Given the description of an element on the screen output the (x, y) to click on. 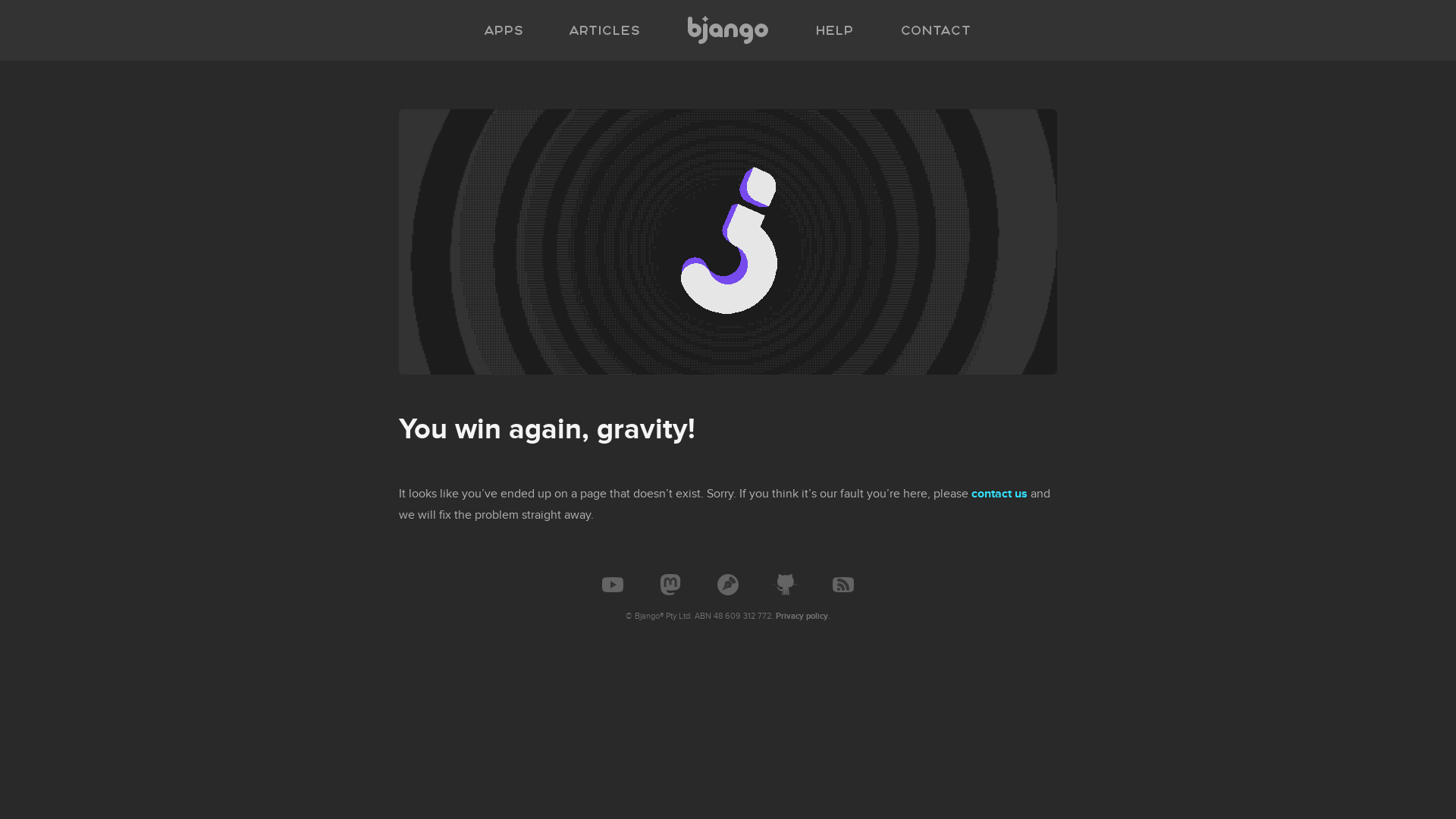
Privacy policy Element type: text (801, 616)
contact us Element type: text (999, 493)
